Given the description of an element on the screen output the (x, y) to click on. 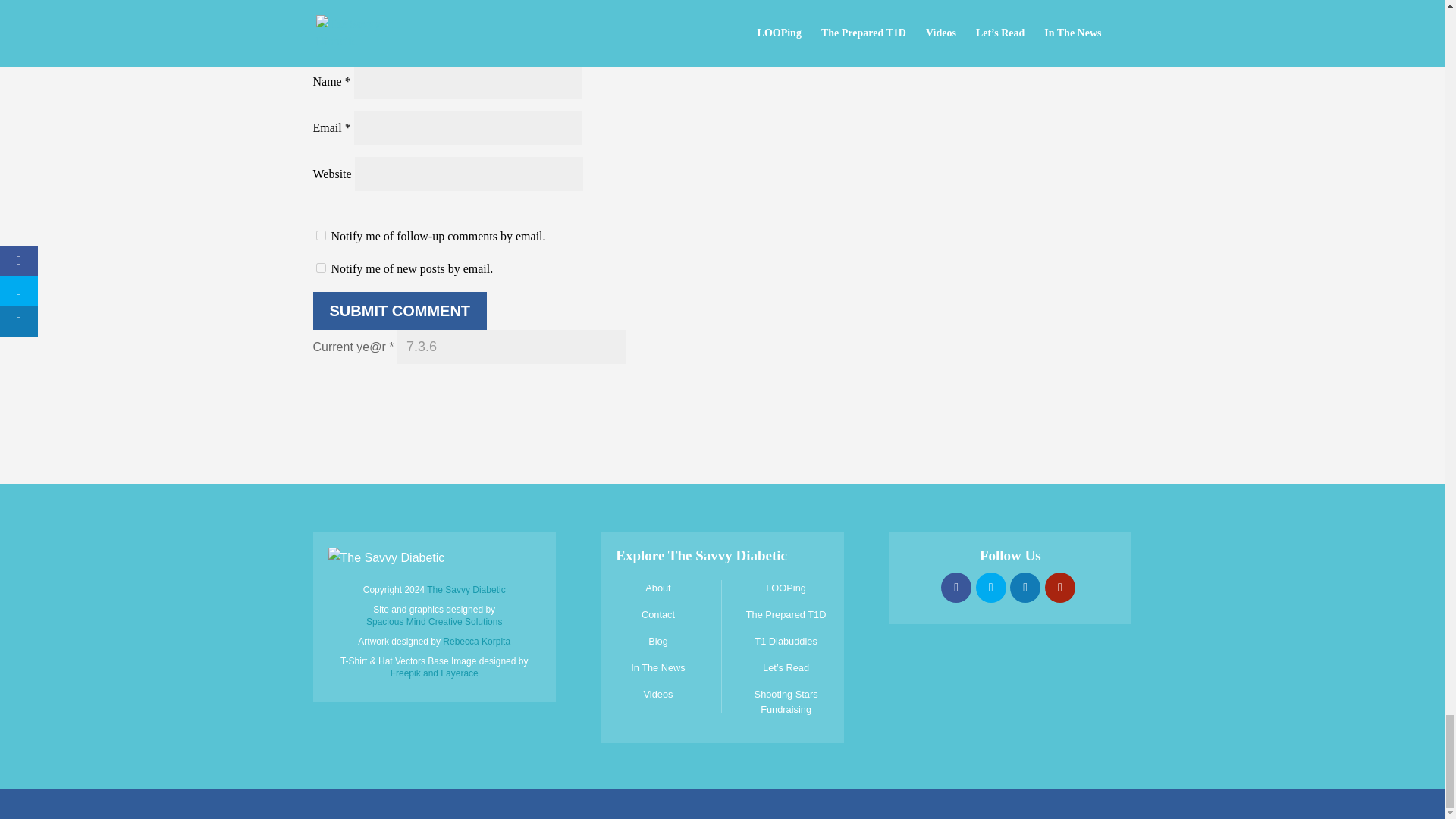
Submit Comment (399, 310)
subscribe (319, 235)
7.3.6 (511, 346)
subscribe (319, 267)
Submit Comment (399, 310)
